Given the description of an element on the screen output the (x, y) to click on. 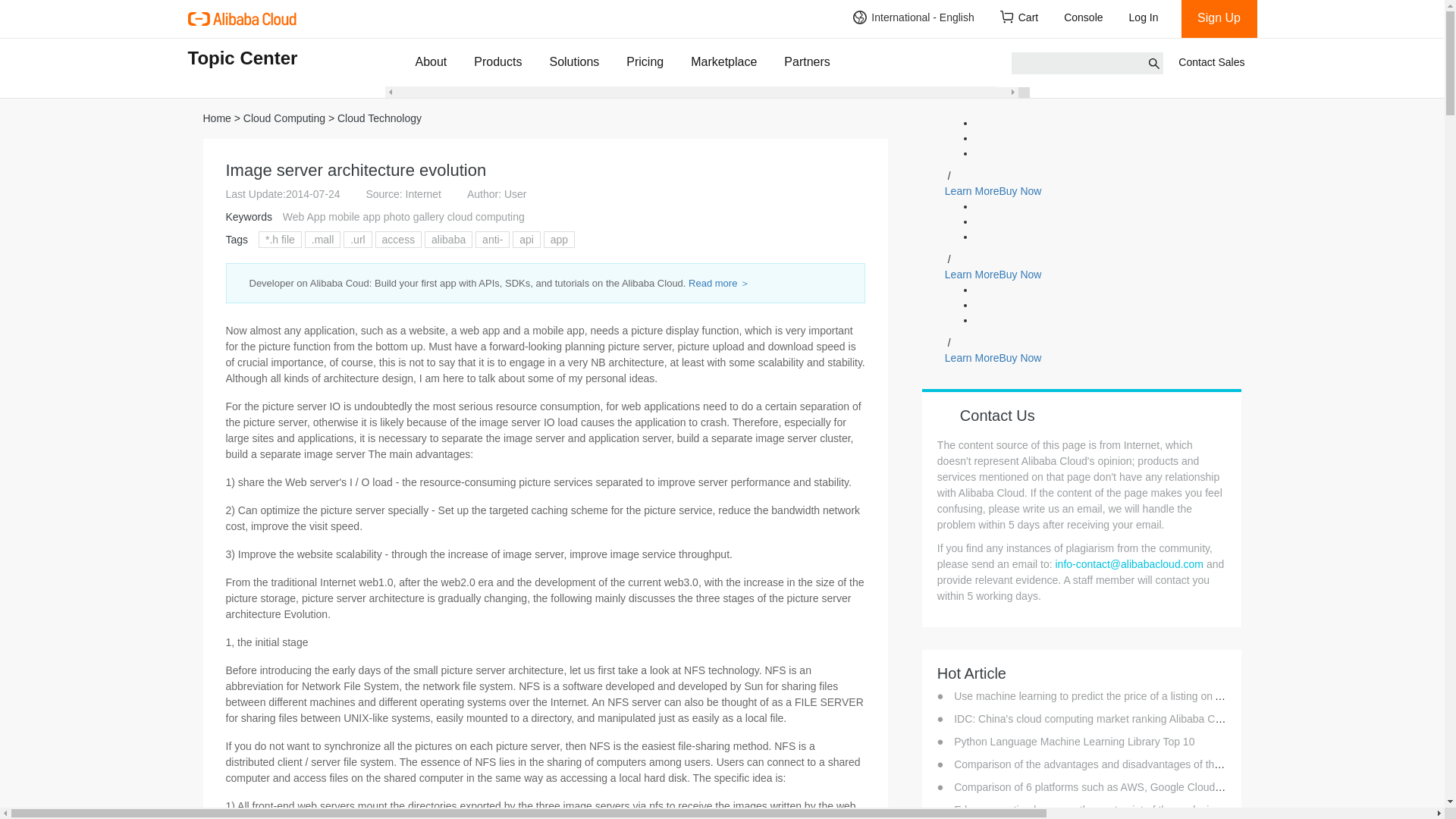
Comparison of 6 platforms such as AWS, Google Cloud and IBM (1105, 787)
Marketplace (723, 61)
.mall (322, 239)
Learn More (971, 191)
Python Language Machine Learning Library Top 10 (1073, 741)
Partners (806, 61)
Cart (1019, 18)
Log In (1148, 18)
Home (217, 118)
Contact Sales (1210, 62)
Solutions (573, 61)
api (526, 239)
access (397, 239)
